Given the description of an element on the screen output the (x, y) to click on. 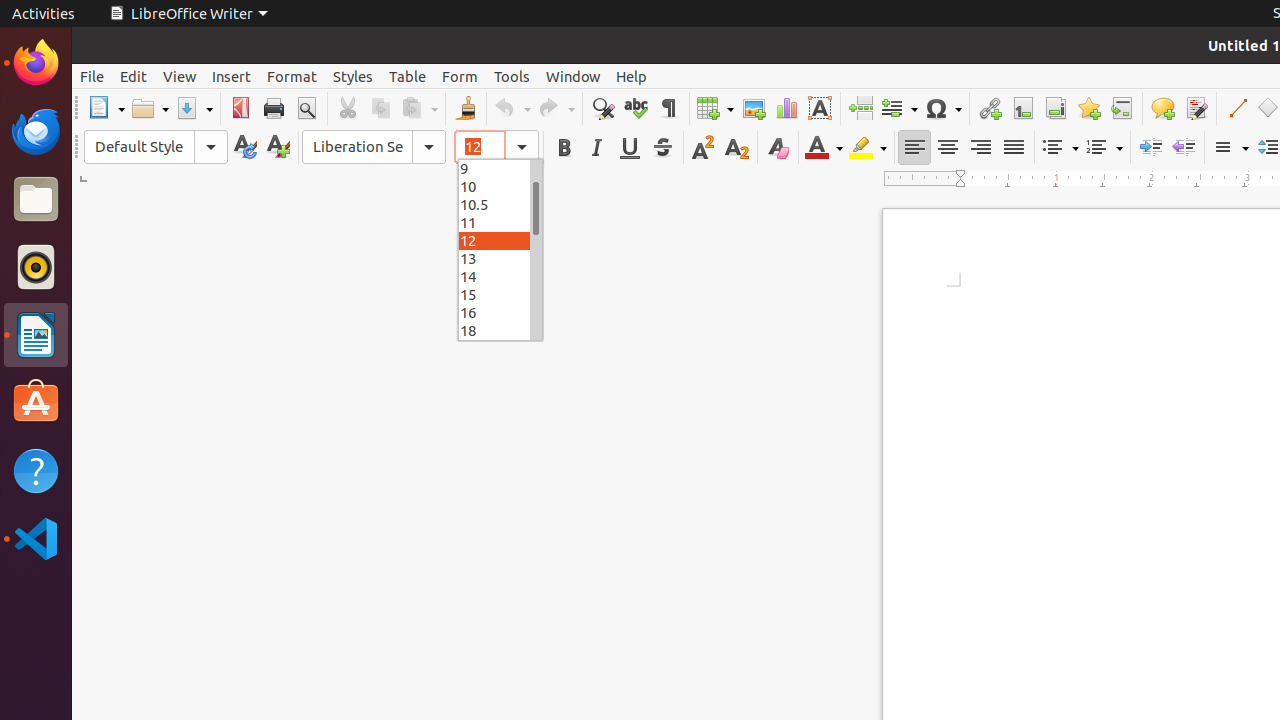
Redo Element type: push-button (556, 108)
Format Element type: menu (292, 76)
PDF Element type: push-button (240, 108)
Edit Element type: menu (133, 76)
Ubuntu Software Element type: push-button (36, 402)
